Given the description of an element on the screen output the (x, y) to click on. 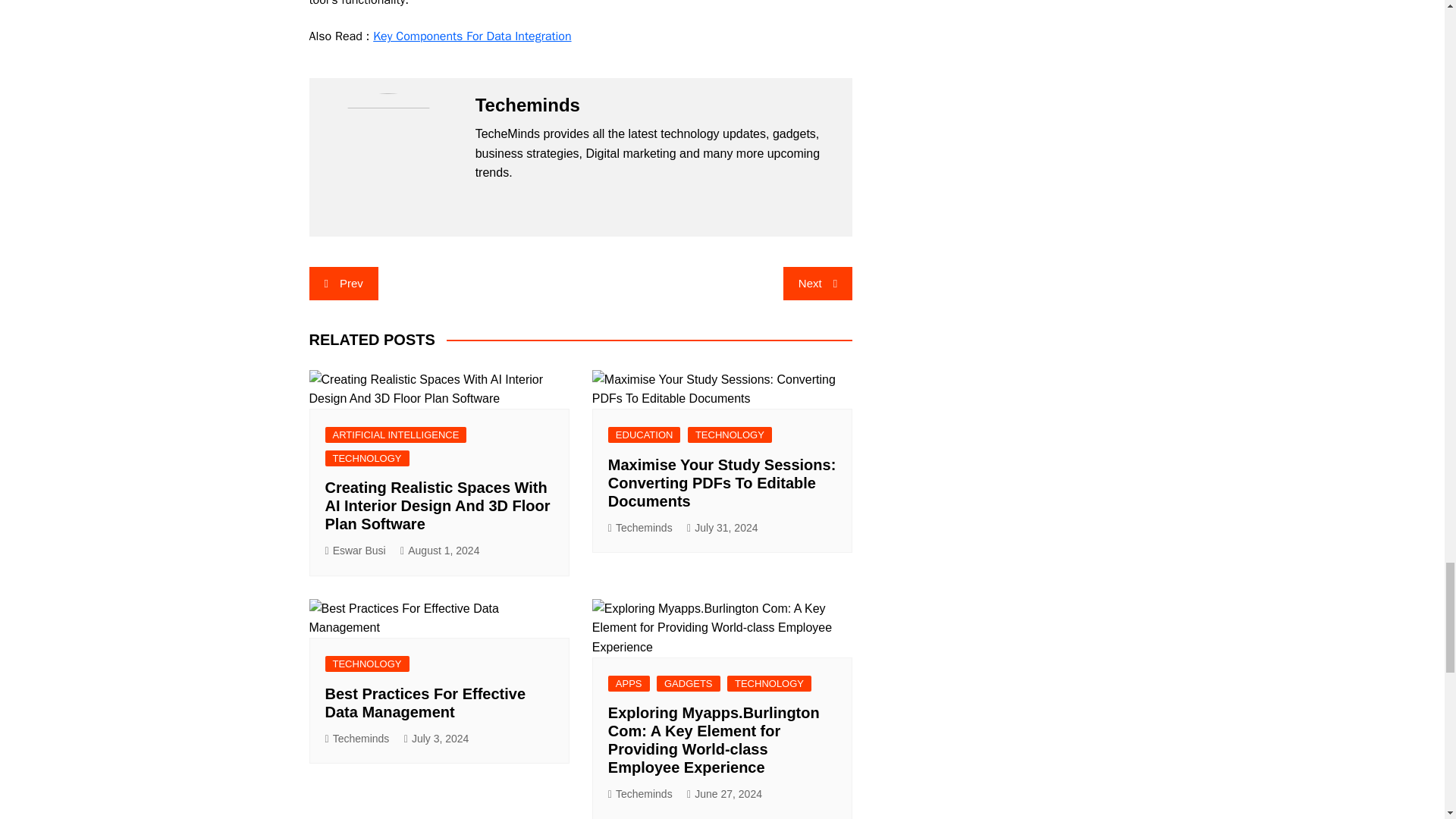
Key Components For Data Integration (471, 36)
Next (817, 283)
Prev (343, 283)
